Given the description of an element on the screen output the (x, y) to click on. 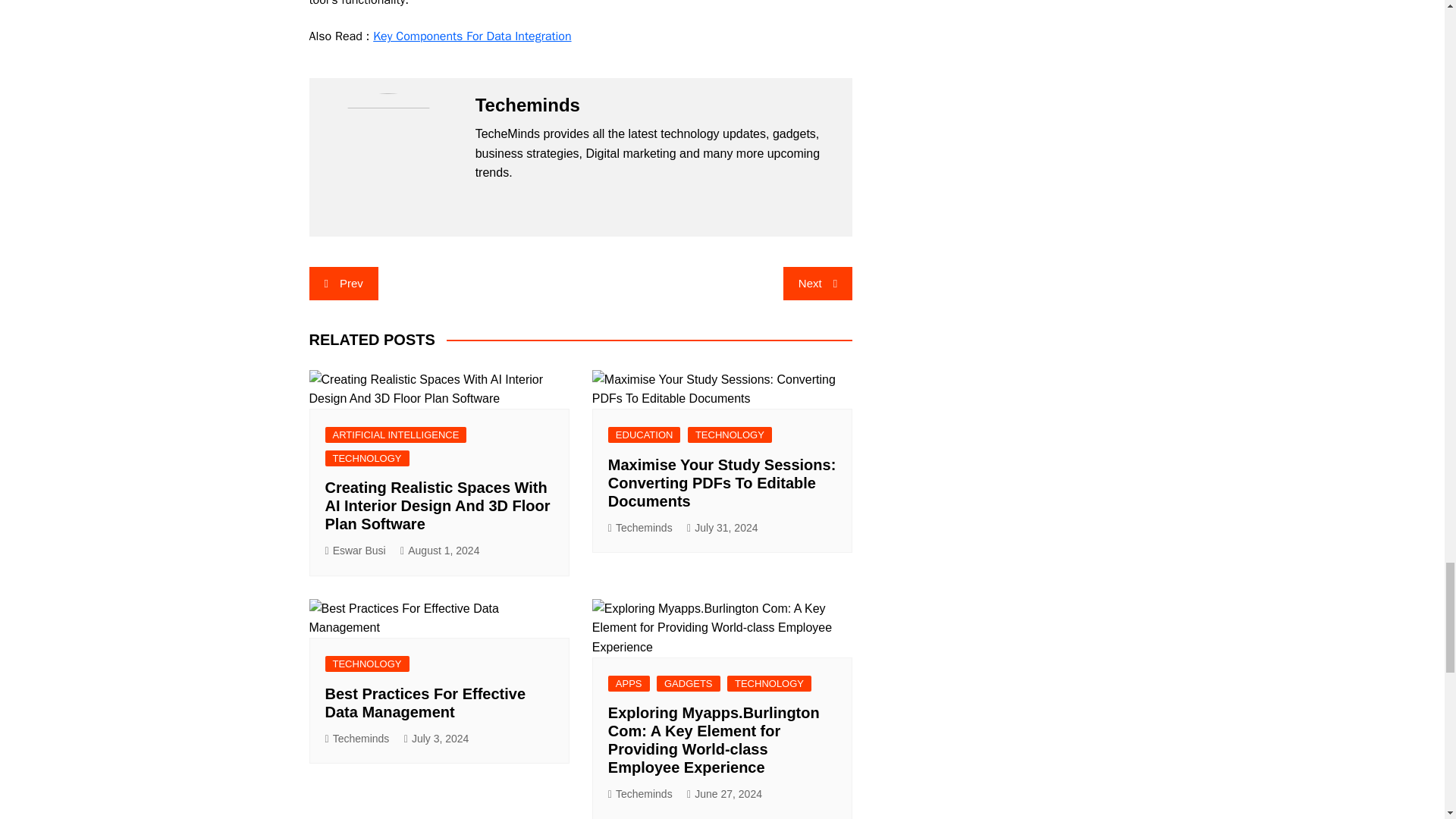
Key Components For Data Integration (471, 36)
Next (817, 283)
Prev (343, 283)
